Given the description of an element on the screen output the (x, y) to click on. 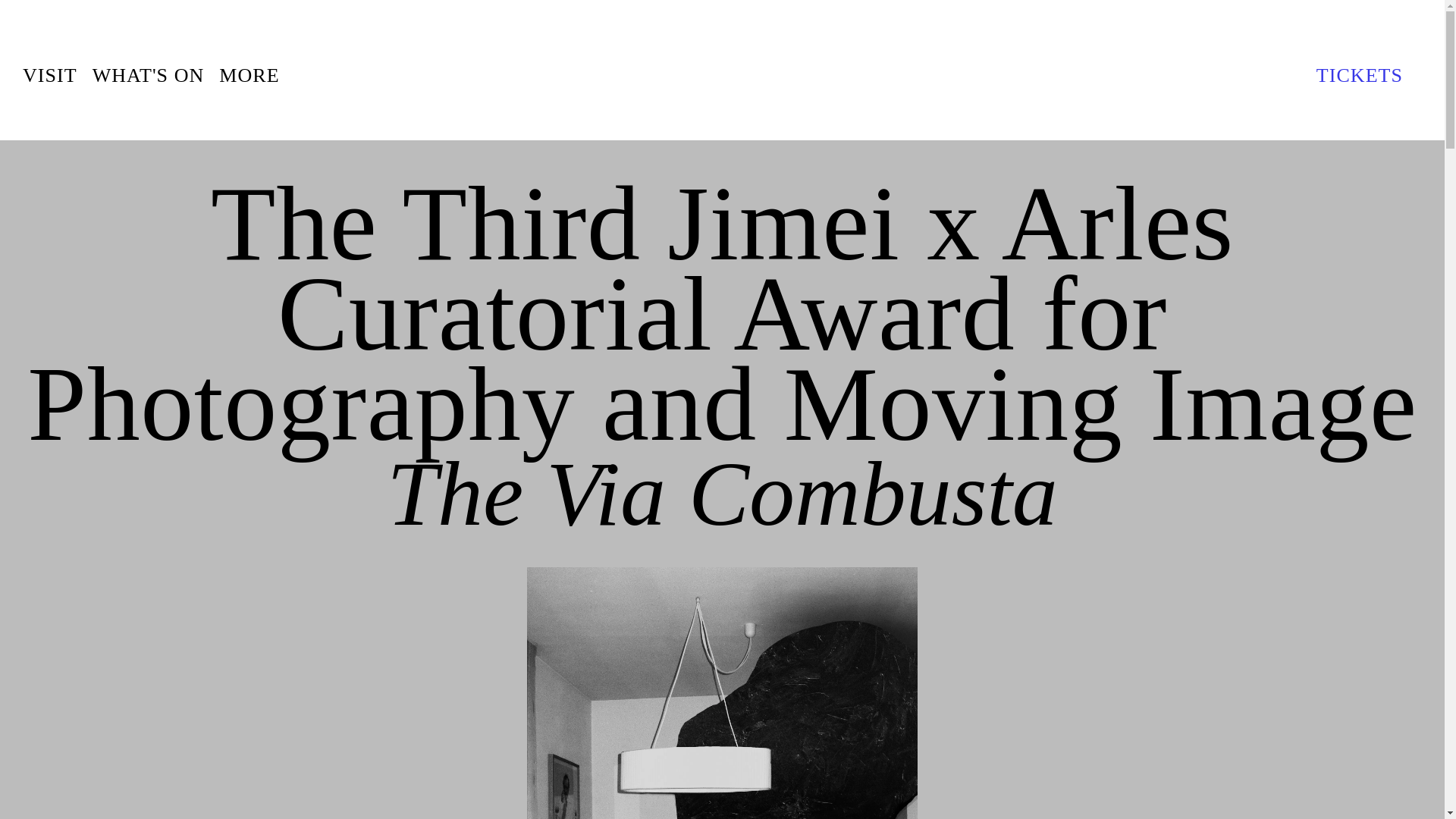
VISIT (50, 75)
WHAT'S ON (149, 75)
TICKETS (1369, 75)
MORE (249, 75)
